Given the description of an element on the screen output the (x, y) to click on. 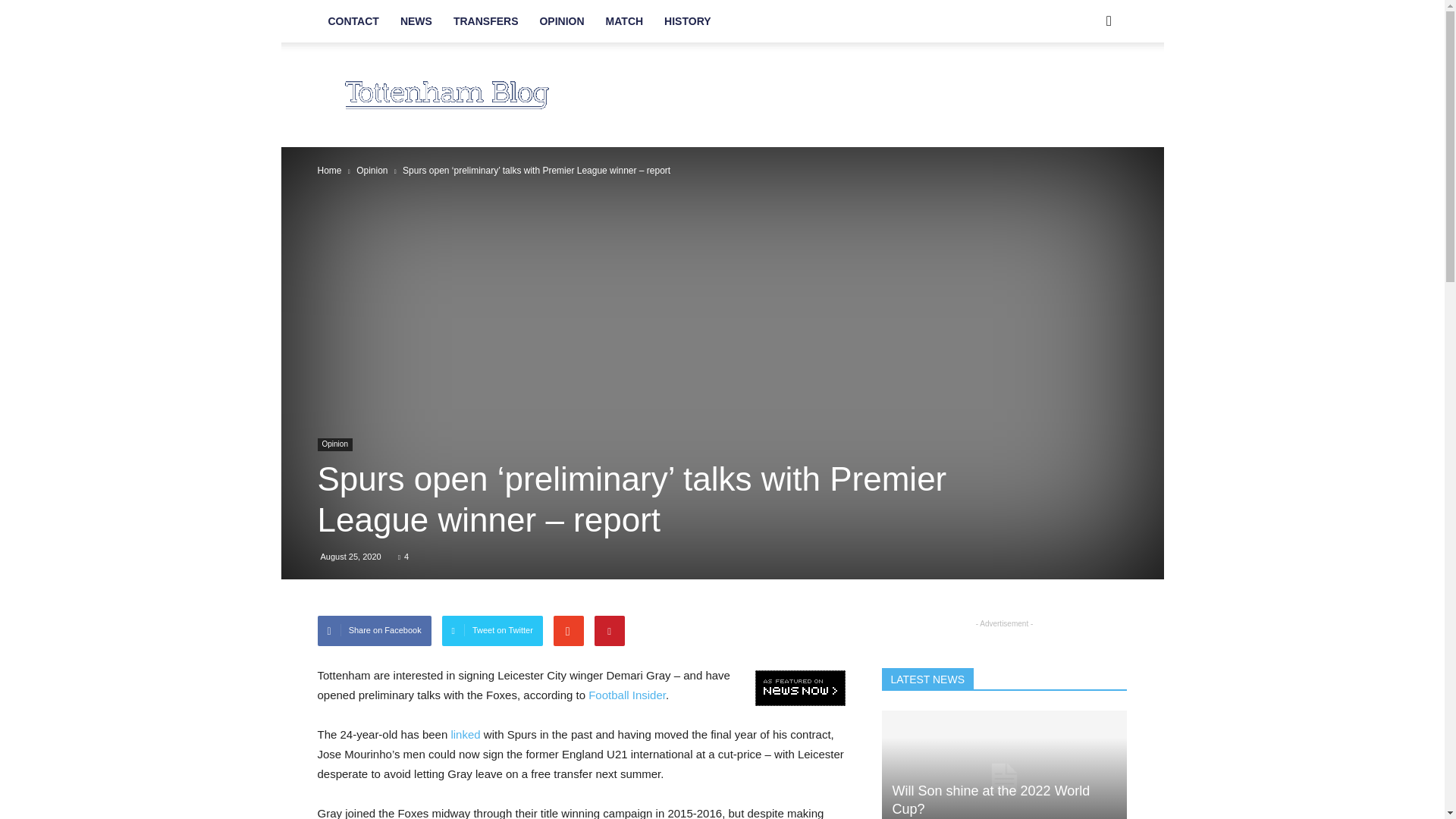
Will Son shine at the 2022 World Cup? (1003, 764)
4 (403, 556)
OPINION (561, 21)
NEWS (416, 21)
Opinion (371, 170)
Opinion (334, 444)
Home (328, 170)
MATCH (624, 21)
Share on Facebook (373, 630)
Will Son shine at the 2022 World Cup? (990, 799)
TRANSFERS (485, 21)
HISTORY (686, 21)
View all posts in Opinion (371, 170)
Tweet on Twitter (492, 630)
CONTACT (352, 21)
